Given the description of an element on the screen output the (x, y) to click on. 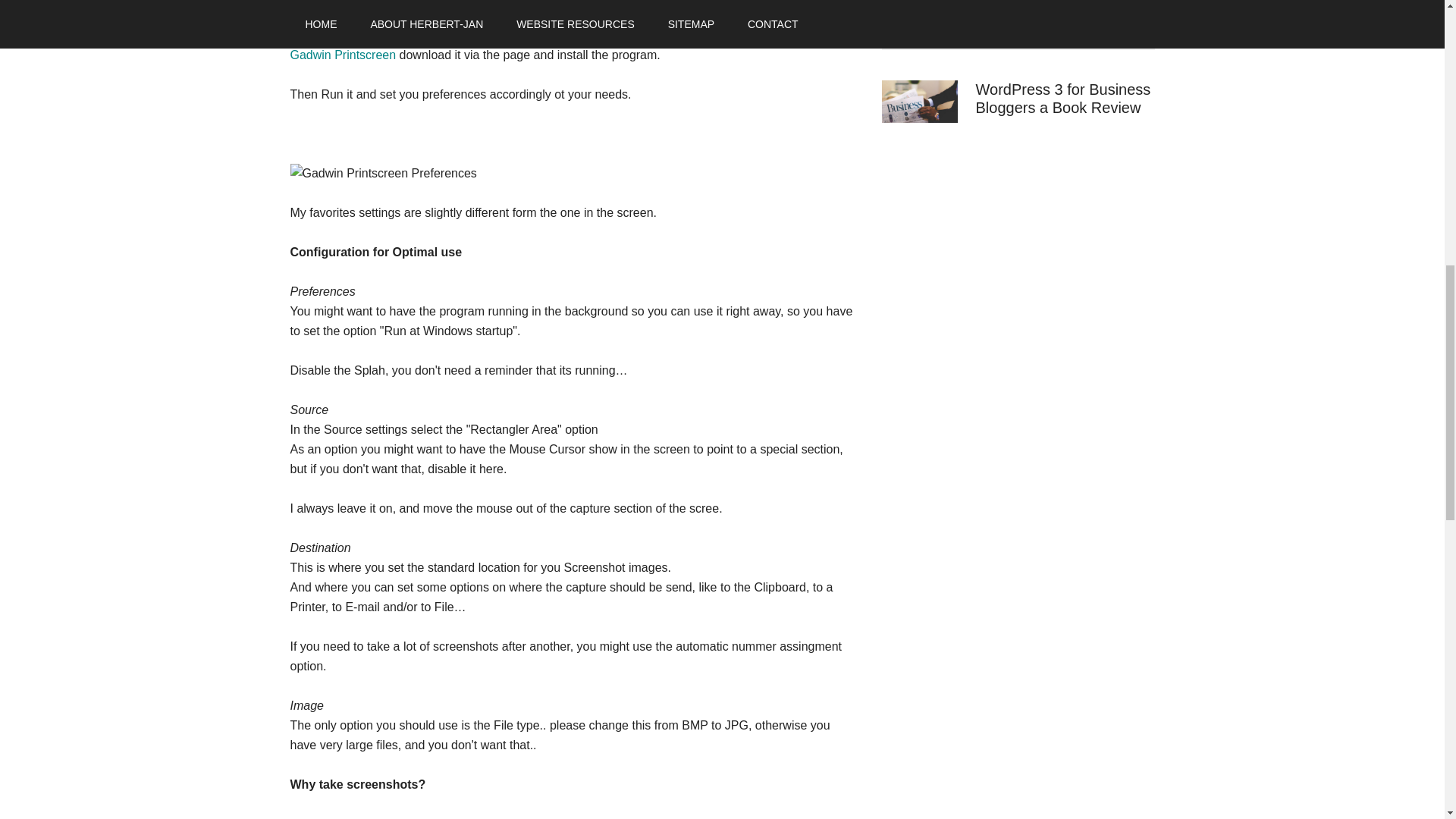
Gadwin Printscreen Preferences (382, 173)
Gadwin Printscreen Utility (342, 54)
